Given the description of an element on the screen output the (x, y) to click on. 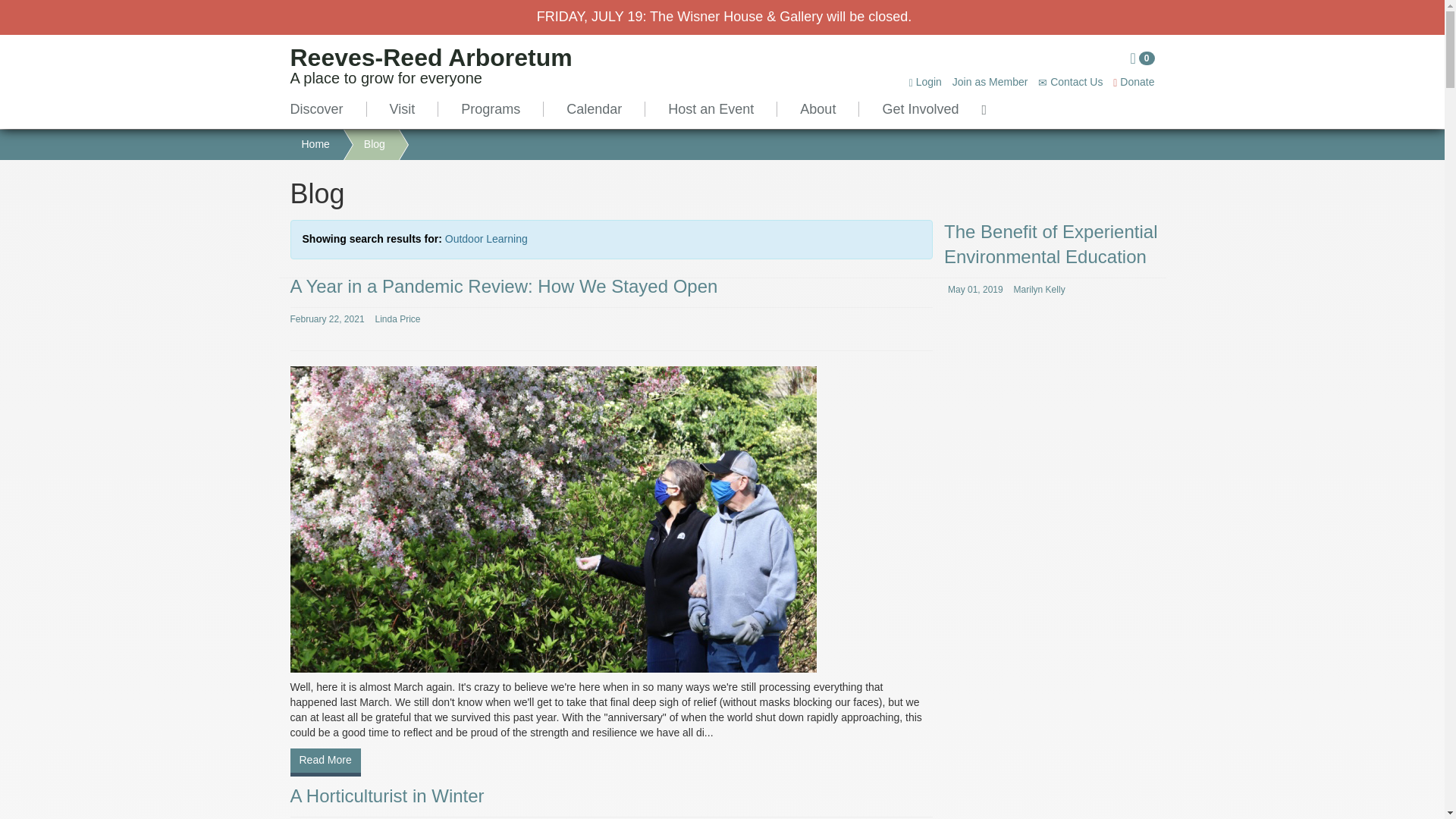
Discover (327, 109)
A Year in a Pandemic Review: How We Stayed Open (430, 69)
Contact Us (503, 286)
0 (1070, 81)
Host an Event (1142, 59)
Calendar (711, 109)
Read More (594, 109)
A Horticulturist in Winter (324, 762)
About (386, 795)
Join as Member (818, 109)
Blog (989, 81)
Login (357, 144)
Donate (925, 81)
Programs (1133, 81)
